Given the description of an element on the screen output the (x, y) to click on. 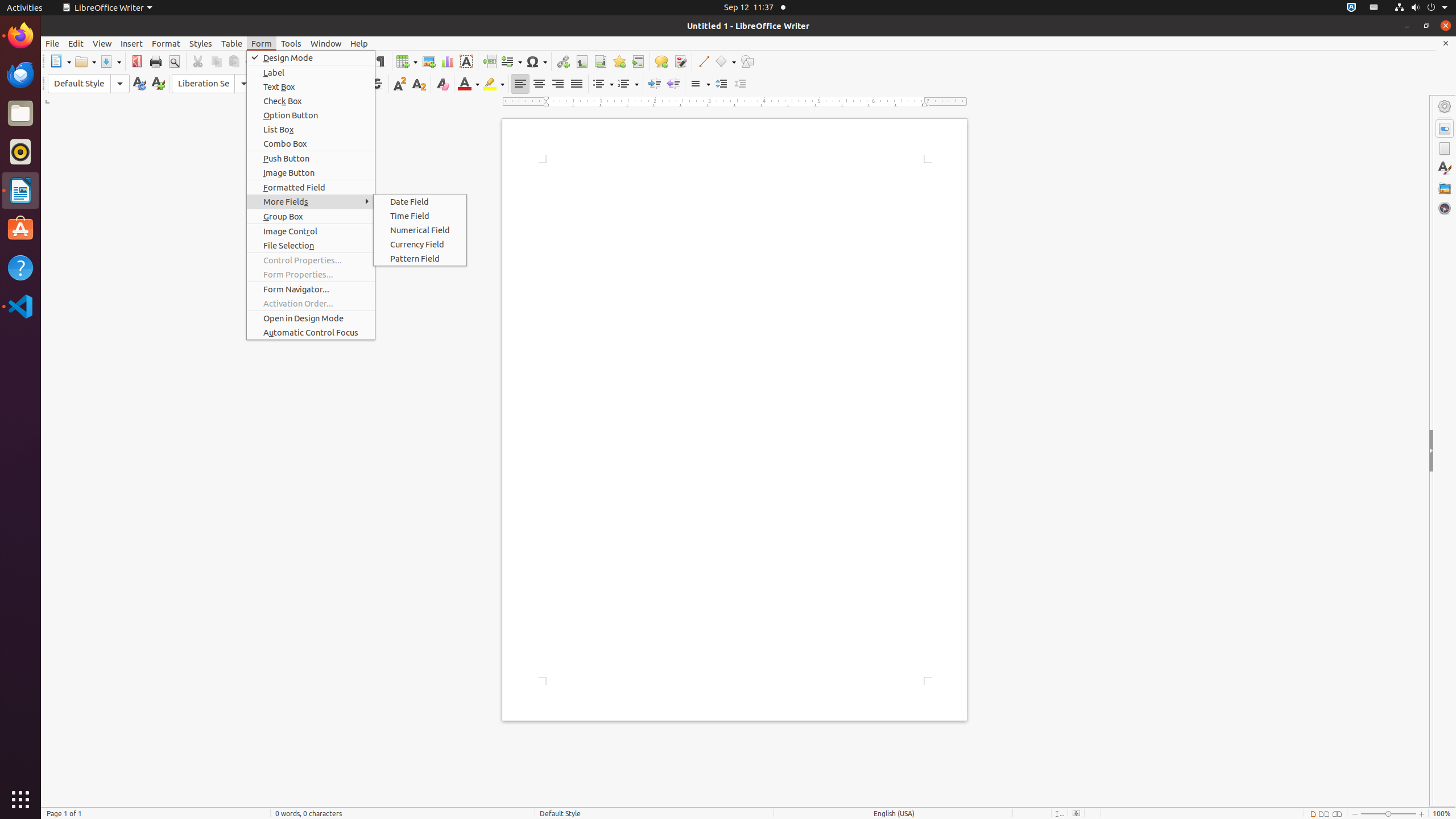
Window Element type: menu (325, 43)
Tools Element type: menu (290, 43)
Form Element type: menu (261, 43)
Subscript Element type: toggle-button (418, 83)
Line Element type: toggle-button (702, 61)
